Given the description of an element on the screen output the (x, y) to click on. 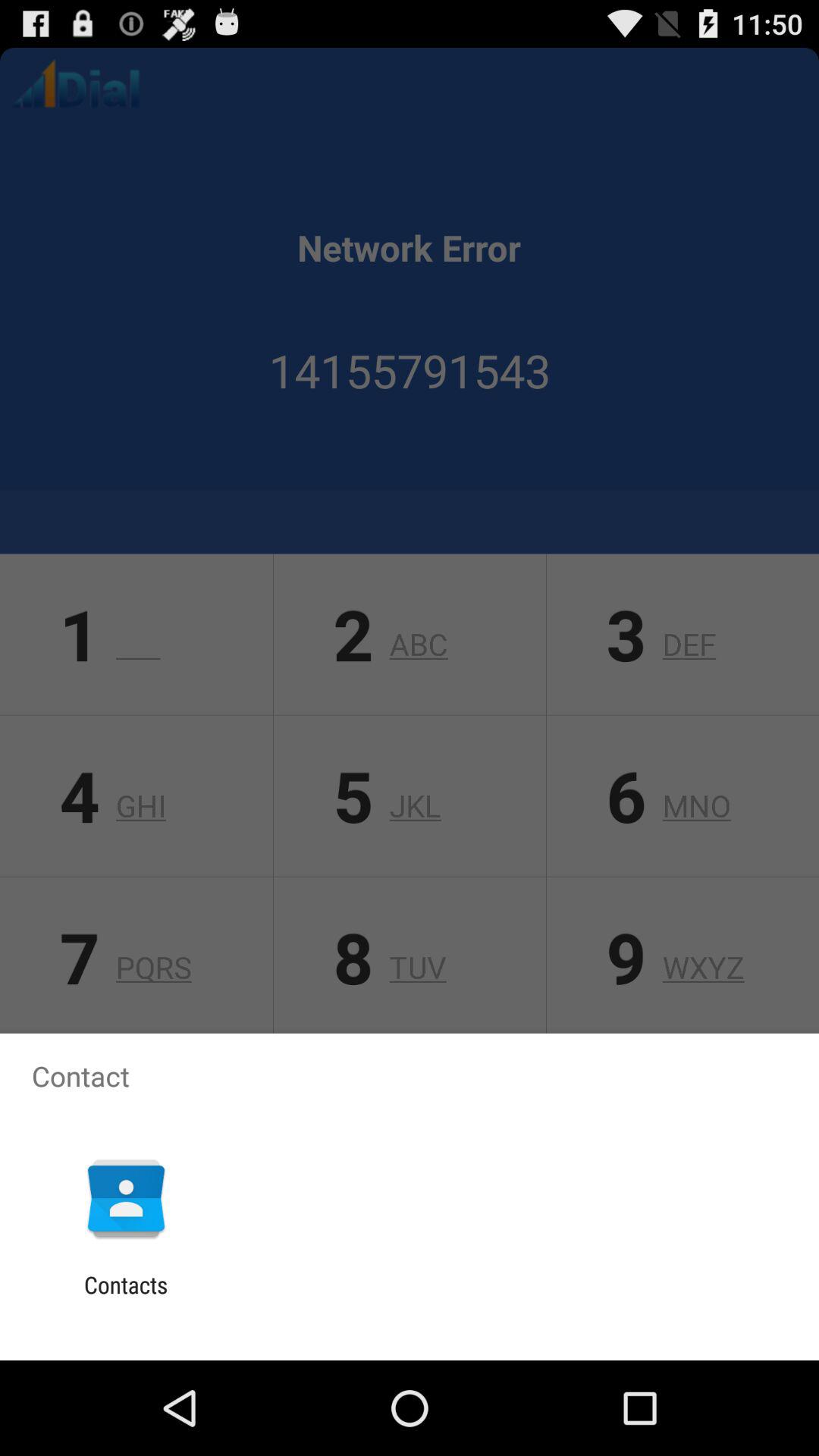
click the item above contacts (126, 1198)
